Given the description of an element on the screen output the (x, y) to click on. 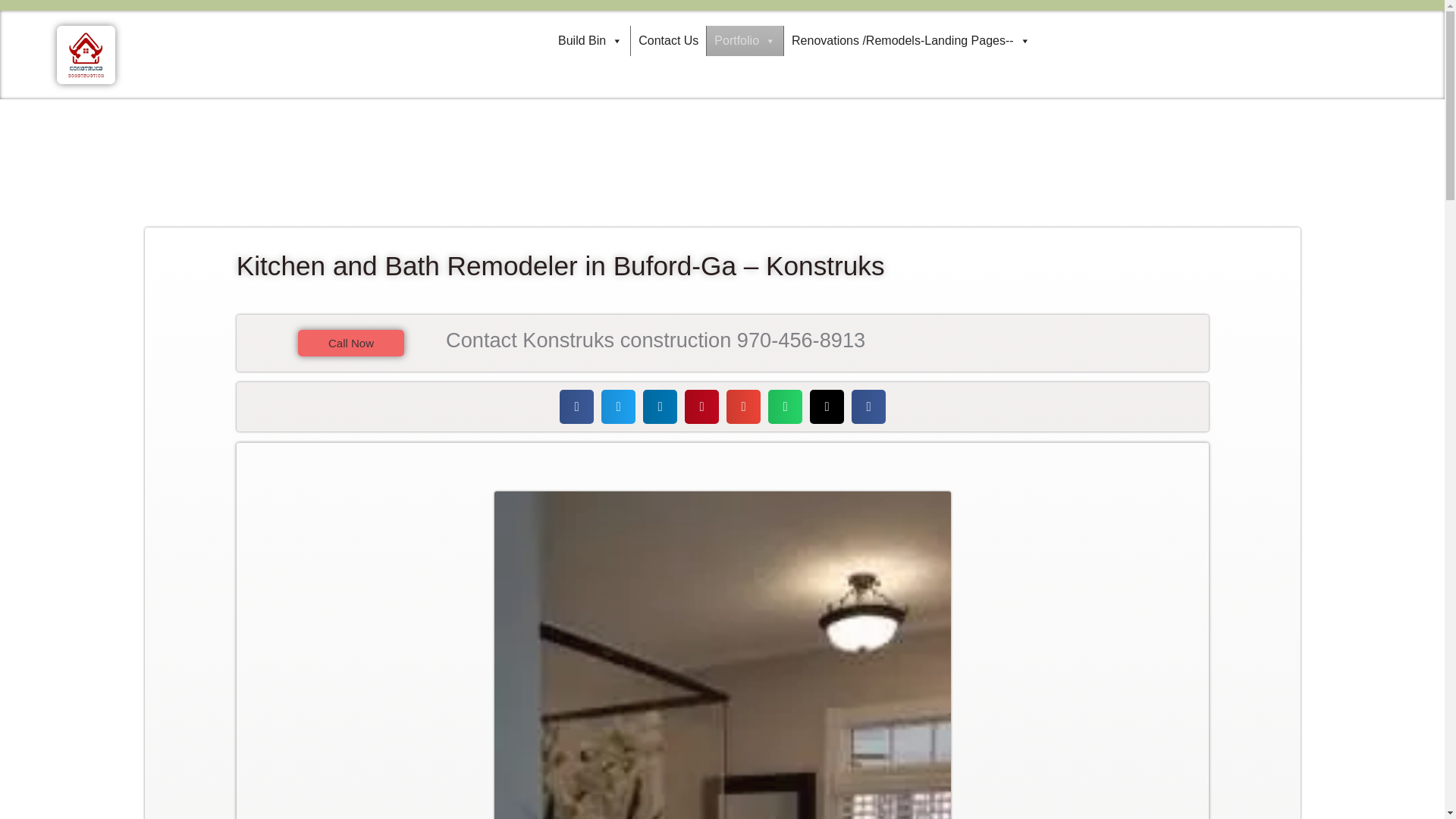
Contact Us (668, 40)
Portfolio (744, 40)
Build Bin (590, 40)
